Given the description of an element on the screen output the (x, y) to click on. 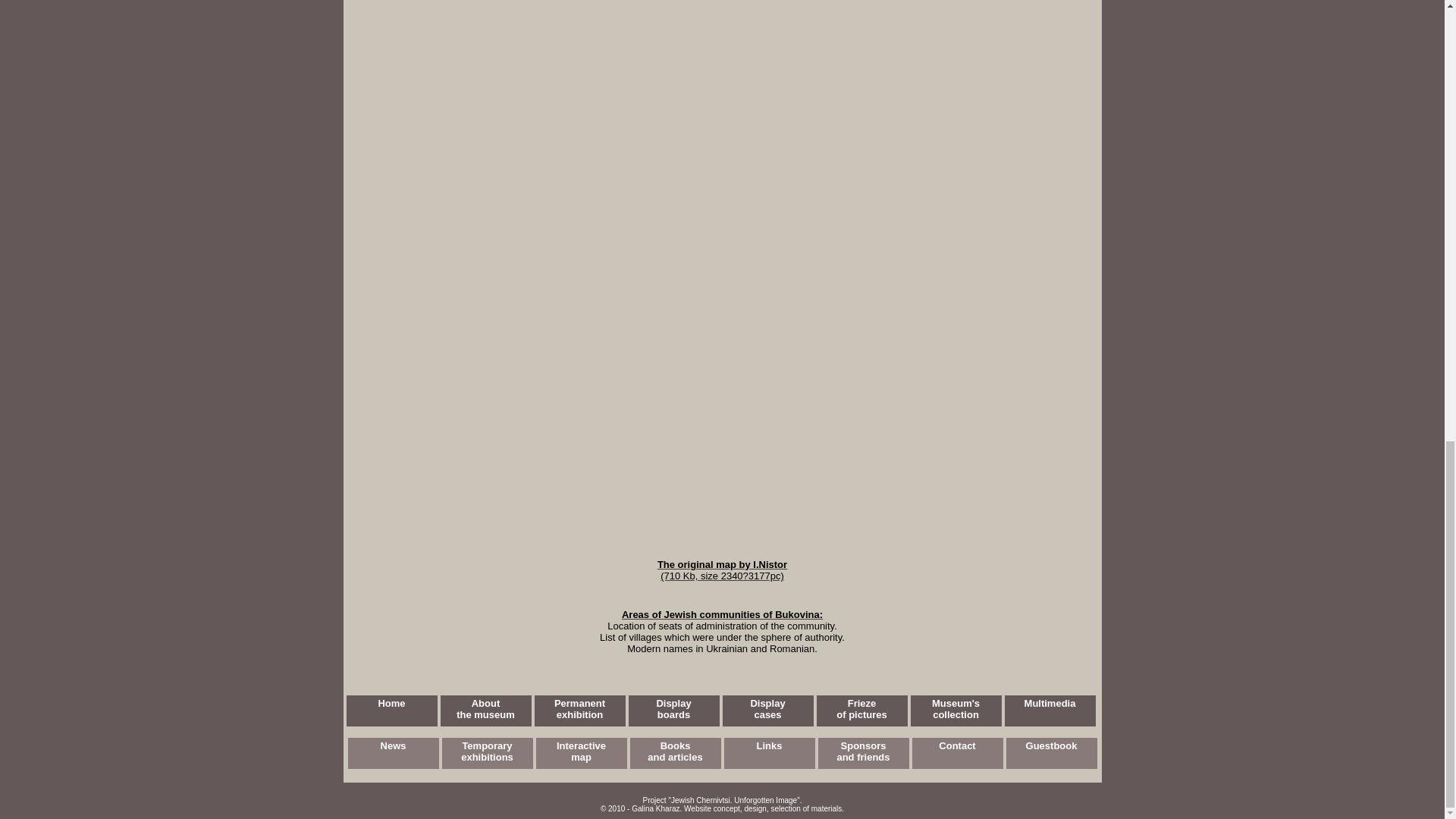
Links (768, 753)
Contact (579, 710)
Guestbook (955, 710)
News (957, 753)
